Given the description of an element on the screen output the (x, y) to click on. 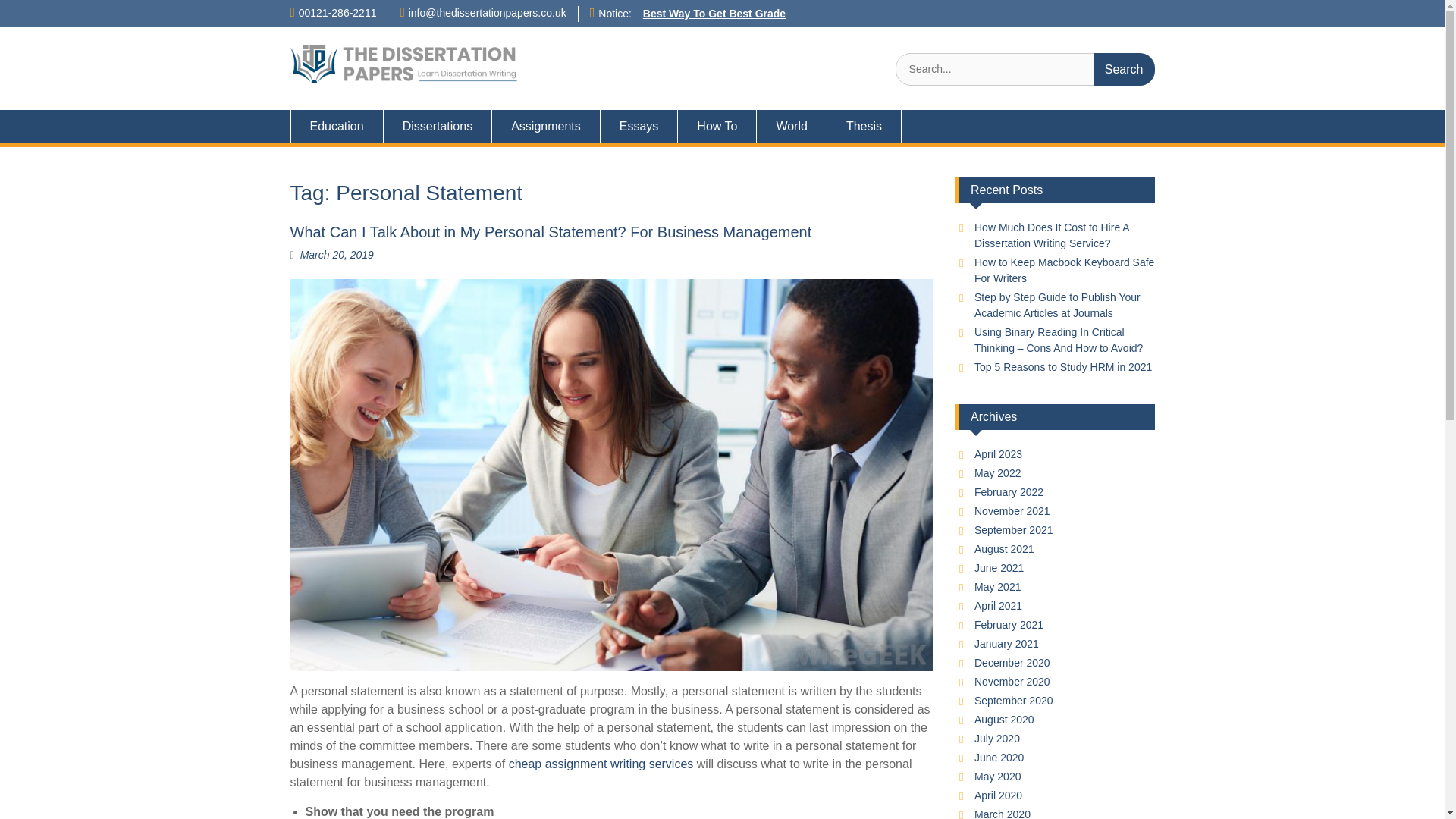
November 2021 (1011, 510)
00121-286-2211 (337, 12)
February 2022 (1008, 491)
Search for: (1024, 69)
September 2021 (1013, 530)
May 2021 (997, 586)
Top 5 Reasons to Study HRM in 2021 (1062, 367)
August 2021 (1003, 548)
